Given the description of an element on the screen output the (x, y) to click on. 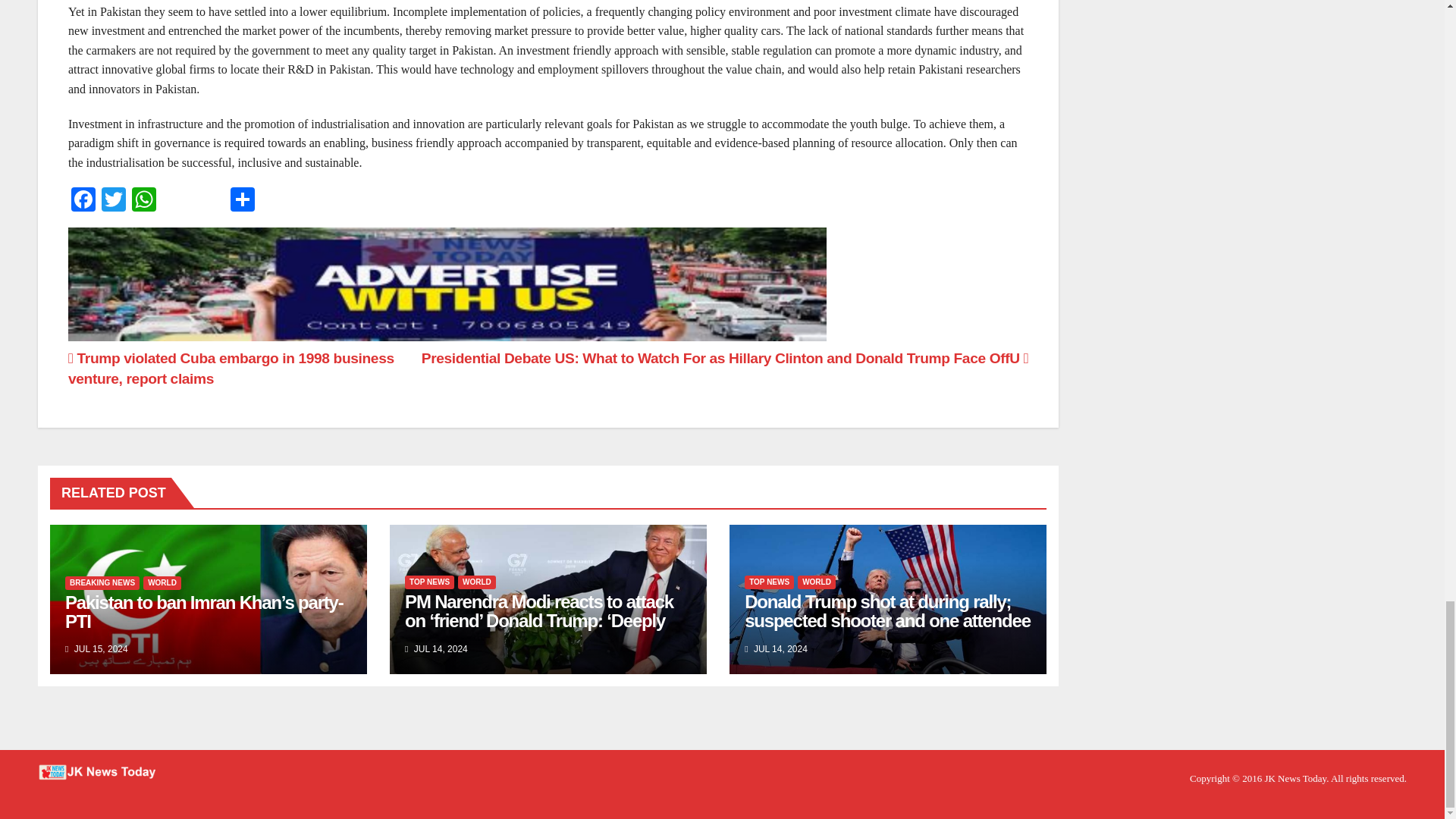
Facebook (83, 201)
WhatsApp (143, 201)
Twitter (114, 201)
JKNews Today (1294, 778)
